Given the description of an element on the screen output the (x, y) to click on. 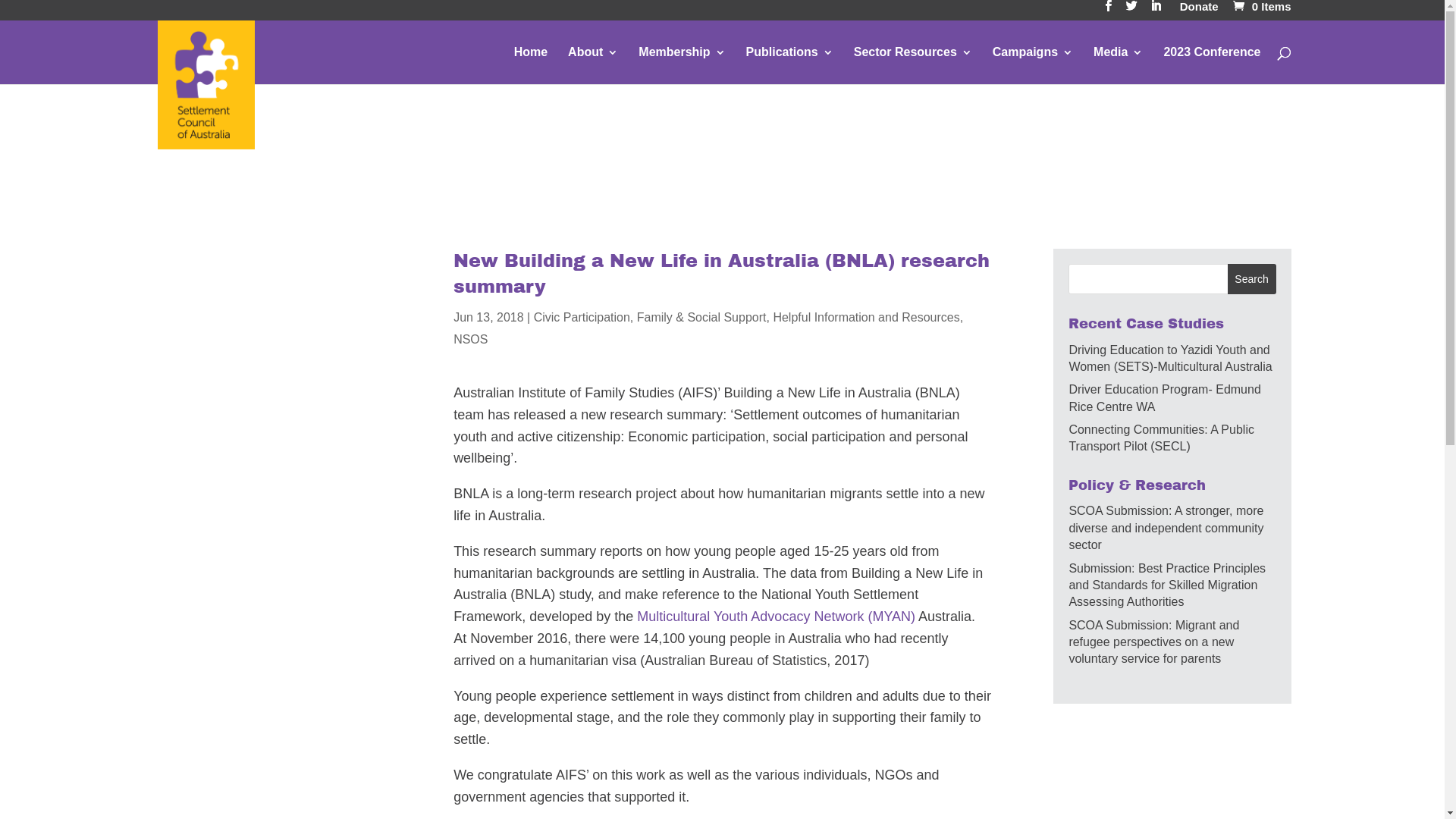
Family & Social Support Element type: text (701, 316)
Campaigns Element type: text (1032, 65)
2023 Conference Element type: text (1211, 65)
Connecting Communities: A Public Transport Pilot (SECL) Element type: text (1161, 437)
Search Element type: text (1251, 278)
About Element type: text (592, 65)
Sector Resources Element type: text (912, 65)
Multicultural Youth Advocacy Network (MYAN) Element type: text (776, 616)
Home Element type: text (530, 65)
NSOS Element type: text (470, 338)
Donate Element type: text (1198, 10)
Publications Element type: text (789, 65)
Civic Participation Element type: text (581, 316)
Driver Education Program- Edmund Rice Centre WA Element type: text (1164, 397)
Media Element type: text (1117, 65)
Helpful Information and Resources Element type: text (865, 316)
Membership Element type: text (681, 65)
0 Items Element type: text (1260, 6)
